Given the description of an element on the screen output the (x, y) to click on. 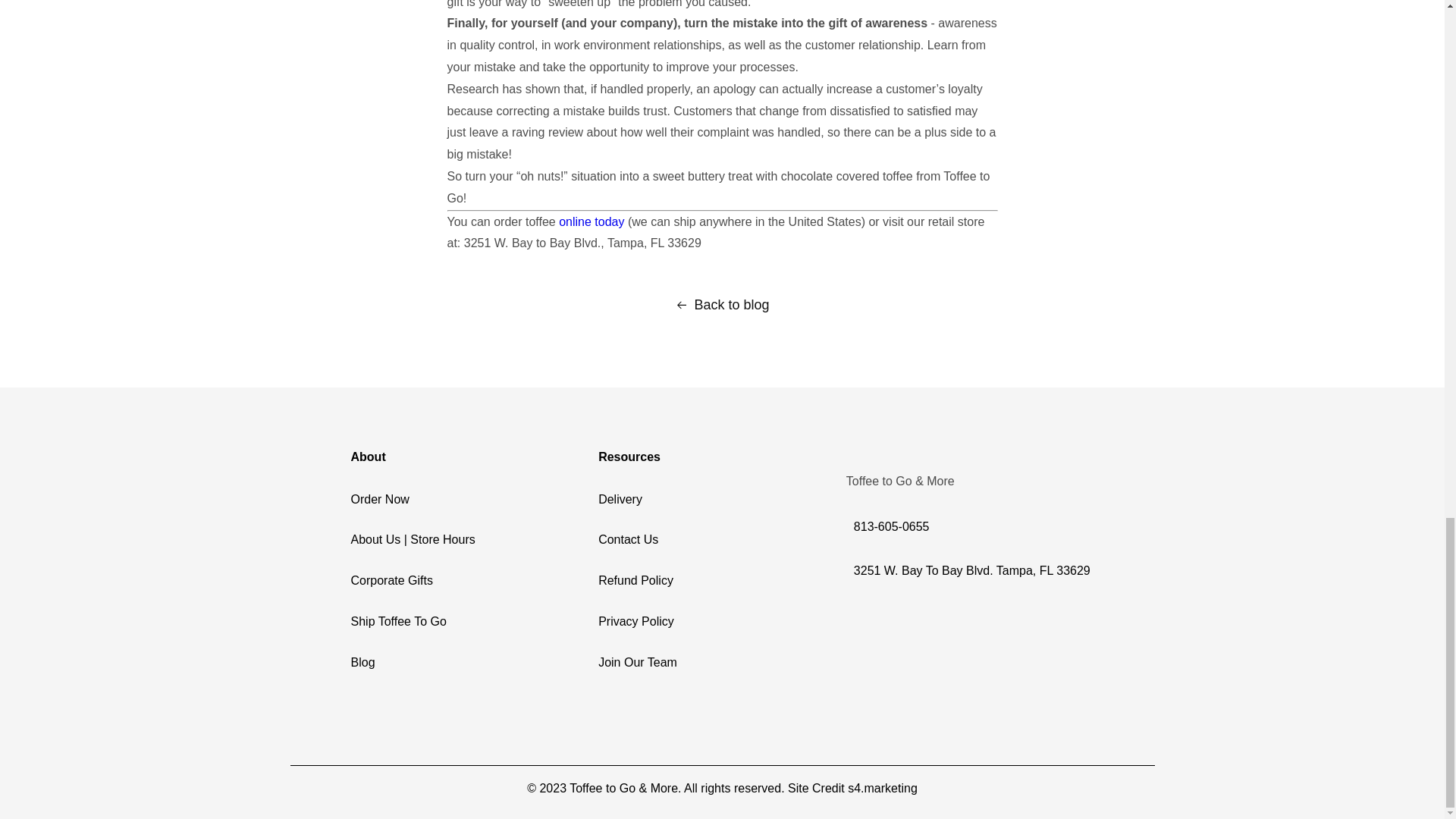
Ship Toffee To Go (397, 621)
Order Now (379, 499)
813-605-0655 (969, 526)
Delivery (620, 499)
Join Our Team (637, 662)
s4.marketing (882, 787)
Blog (362, 662)
Refund Policy (635, 580)
Privacy Policy (636, 621)
Contact Us (628, 539)
